Given the description of an element on the screen output the (x, y) to click on. 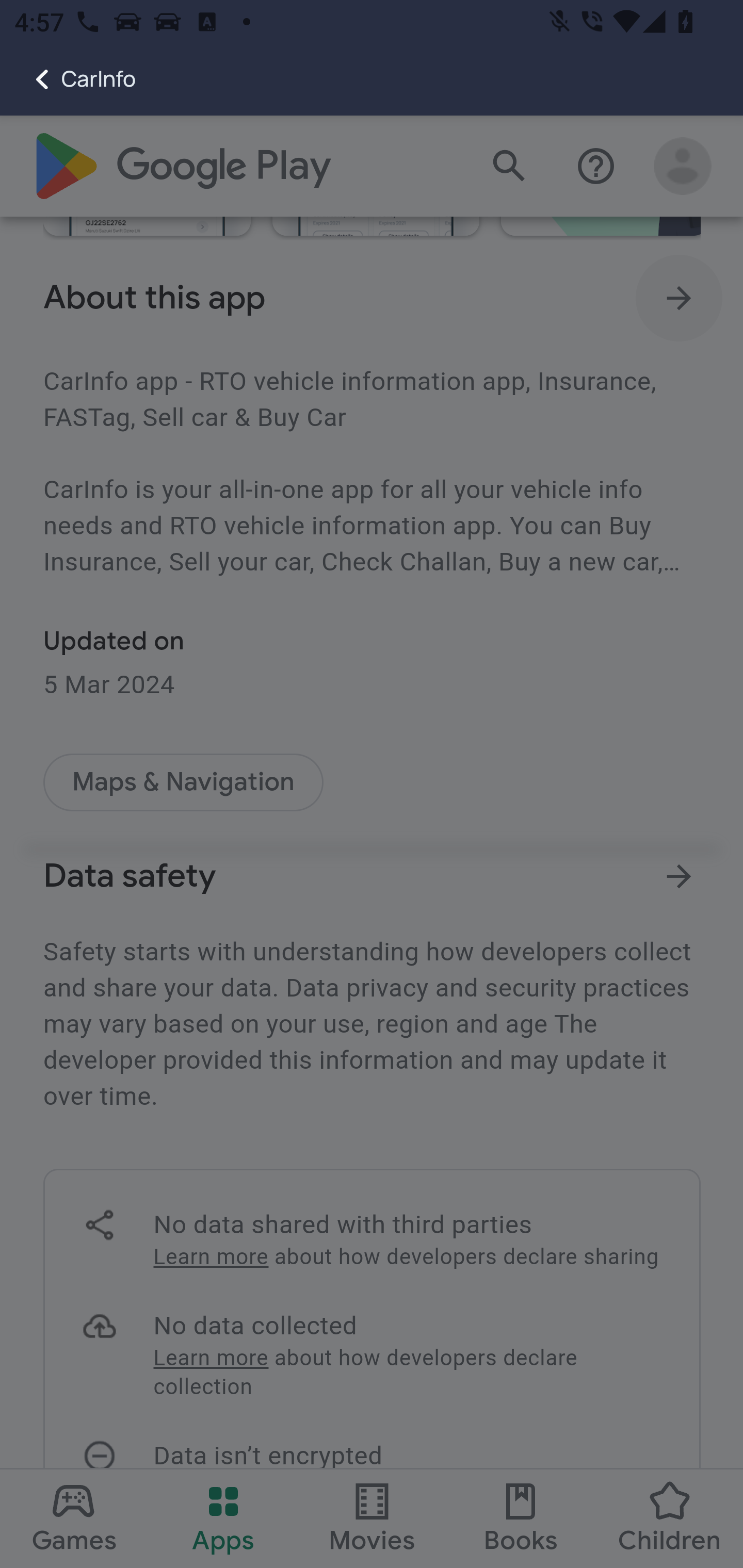
CarInfo (67, 79)
